Given the description of an element on the screen output the (x, y) to click on. 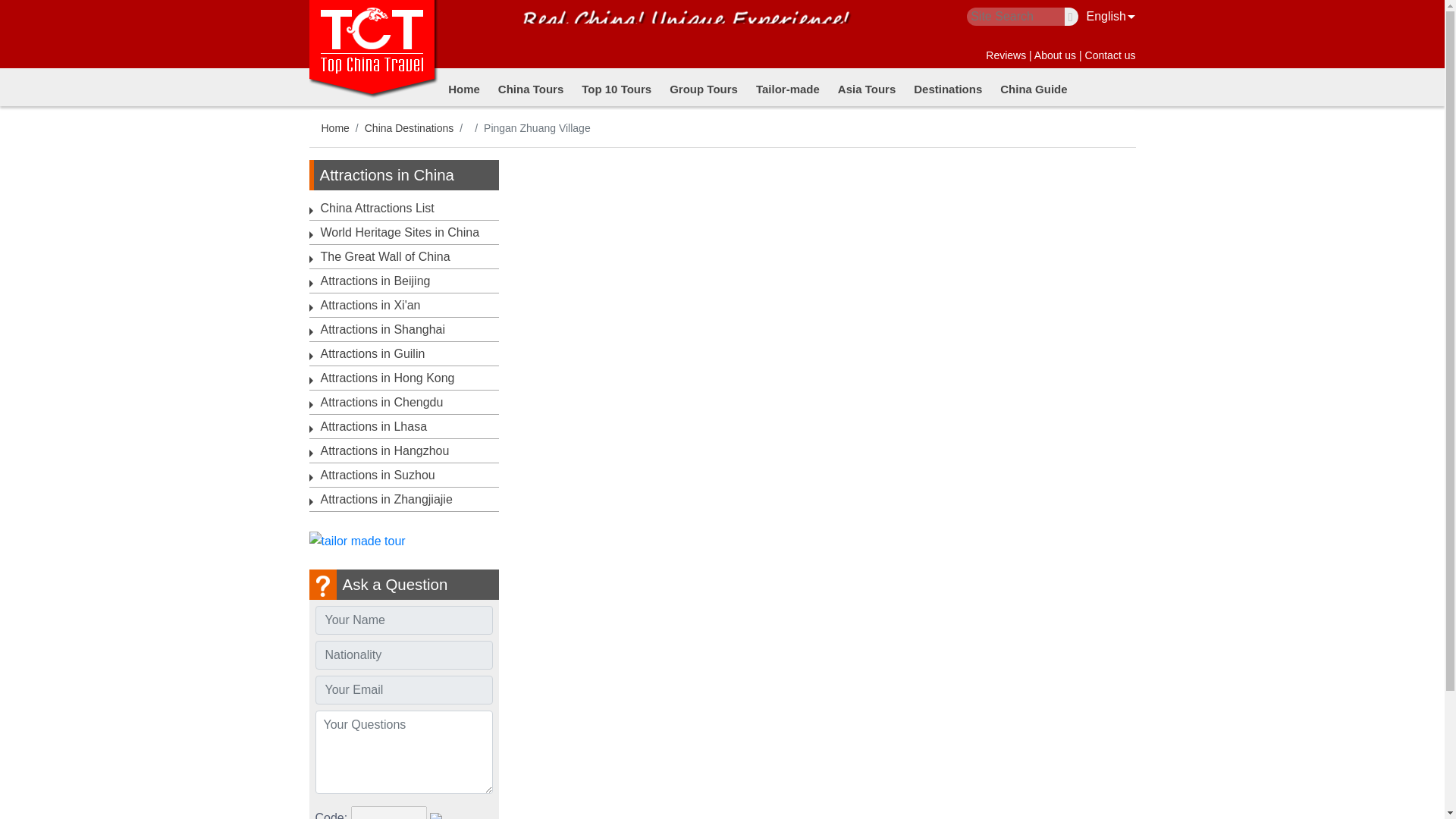
Home (463, 88)
Group Tours (702, 88)
please select the above destinations that you want to go (404, 751)
Top 10 Tours (616, 88)
Attractions in Xian (370, 305)
Attractions in Guilin (372, 353)
Attractions in Shanghai (382, 328)
Attractions in Beijing (374, 280)
Attractions in Chengdu (381, 401)
Attractions in Suzhou (376, 474)
